Given the description of an element on the screen output the (x, y) to click on. 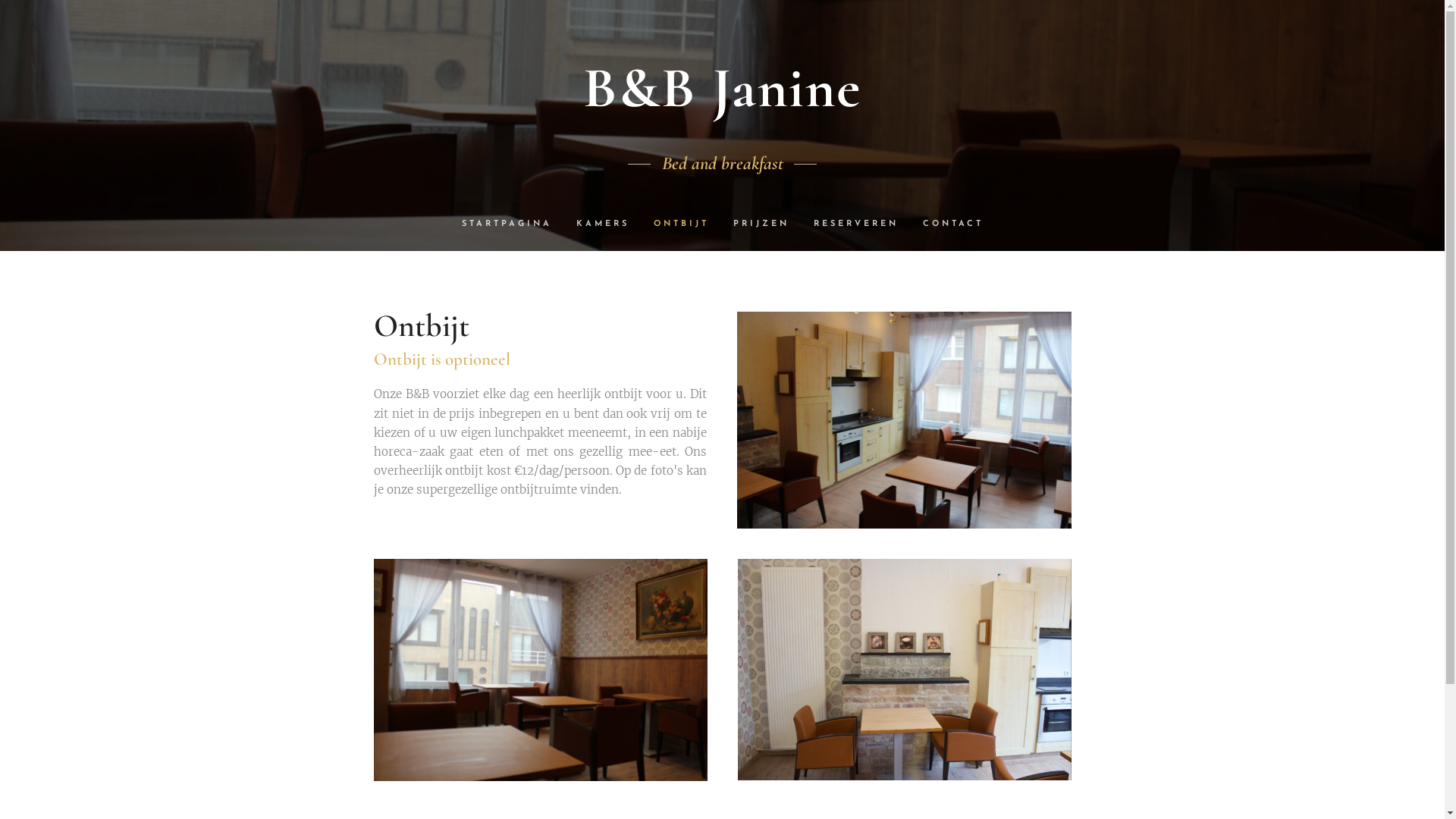
KAMERS Element type: text (602, 224)
ONTBIJT Element type: text (681, 224)
CONTACT Element type: text (946, 224)
B&B Janine Element type: text (722, 88)
STARTPAGINA Element type: text (512, 224)
PRIJZEN Element type: text (760, 224)
RESERVEREN Element type: text (855, 224)
